Given the description of an element on the screen output the (x, y) to click on. 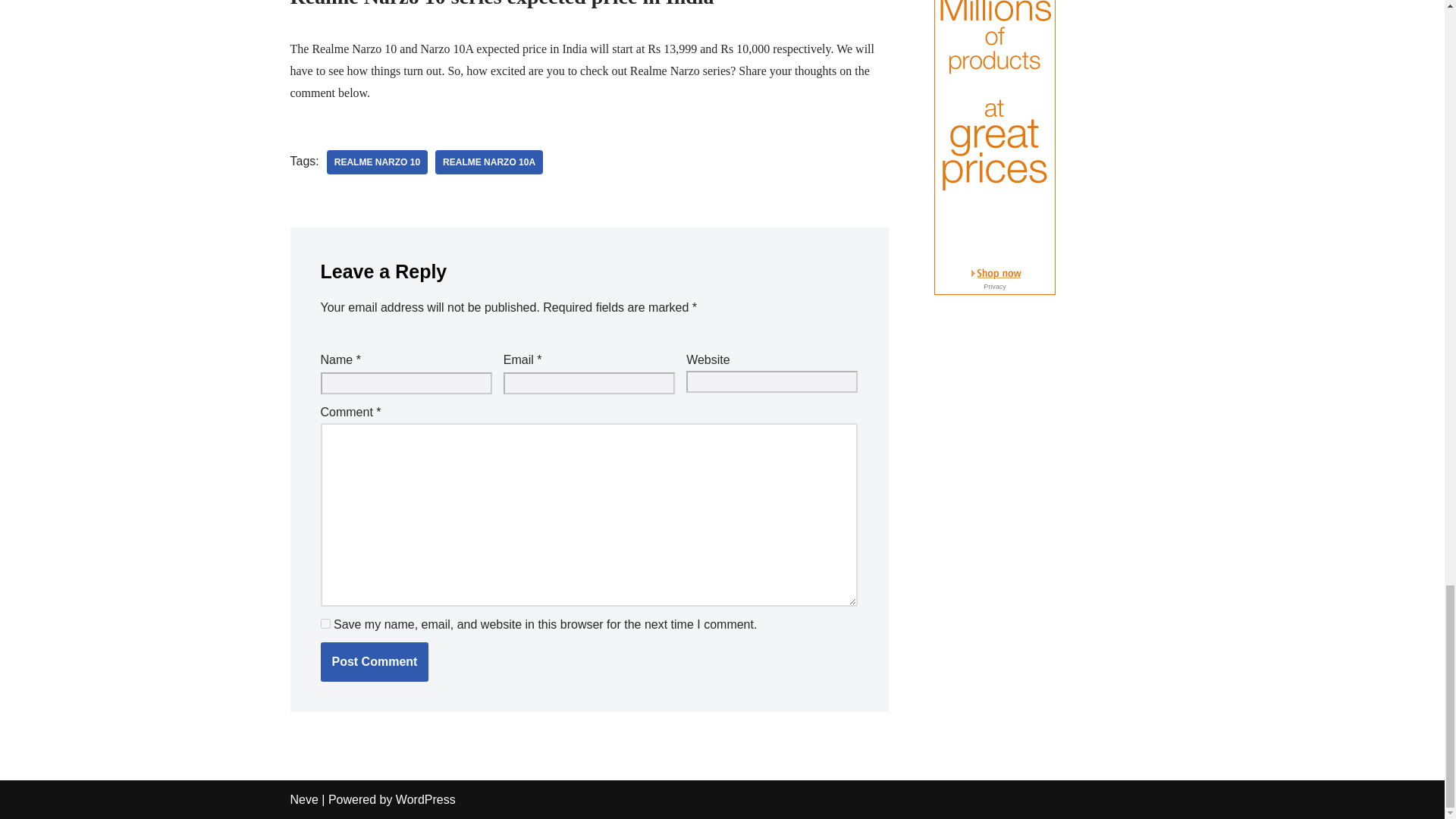
Post Comment (374, 661)
yes (325, 623)
Realme Narzo 10A (489, 161)
Realme Narzo 10 (377, 161)
